Given the description of an element on the screen output the (x, y) to click on. 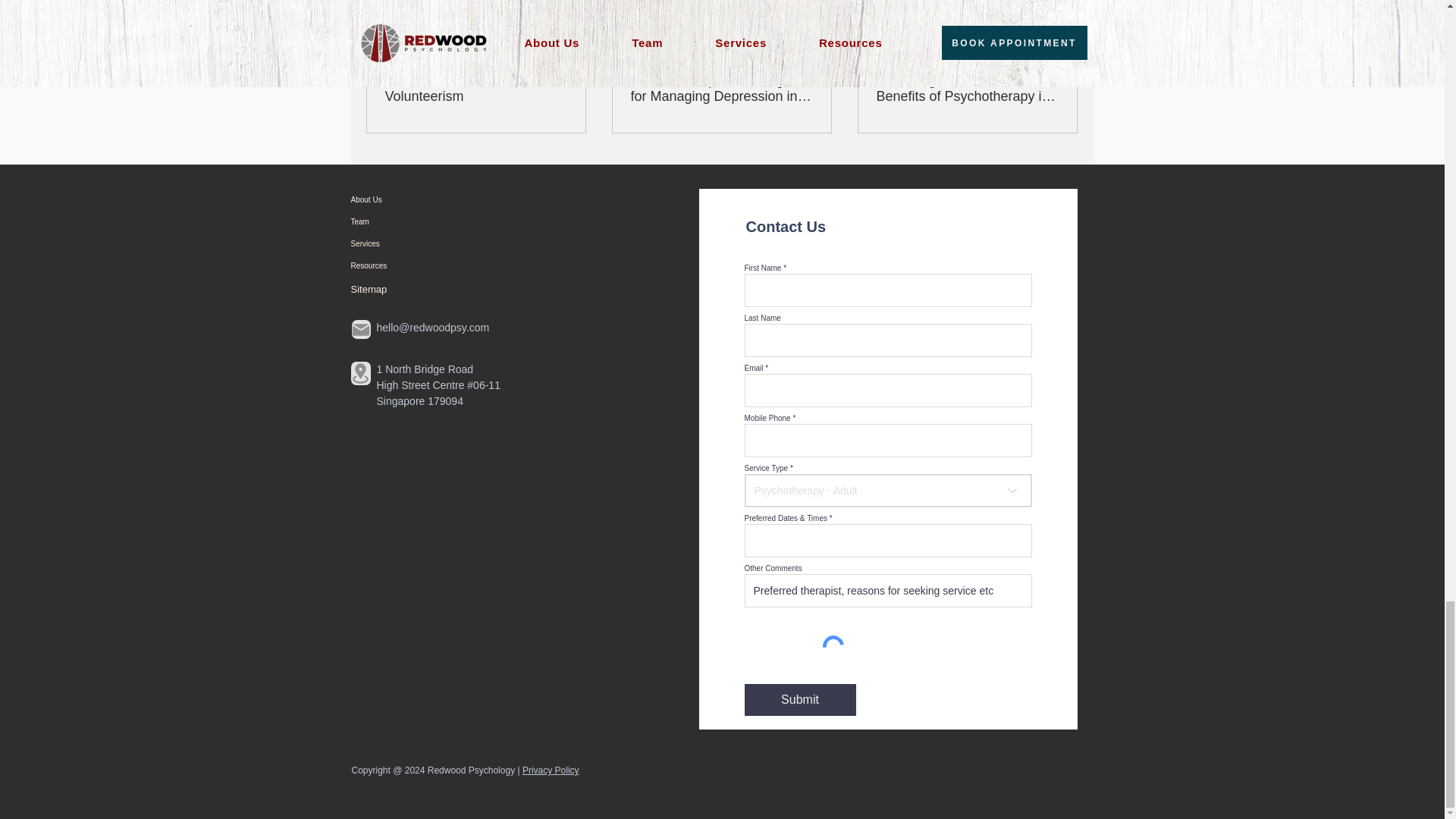
Google Maps (500, 615)
